Given the description of an element on the screen output the (x, y) to click on. 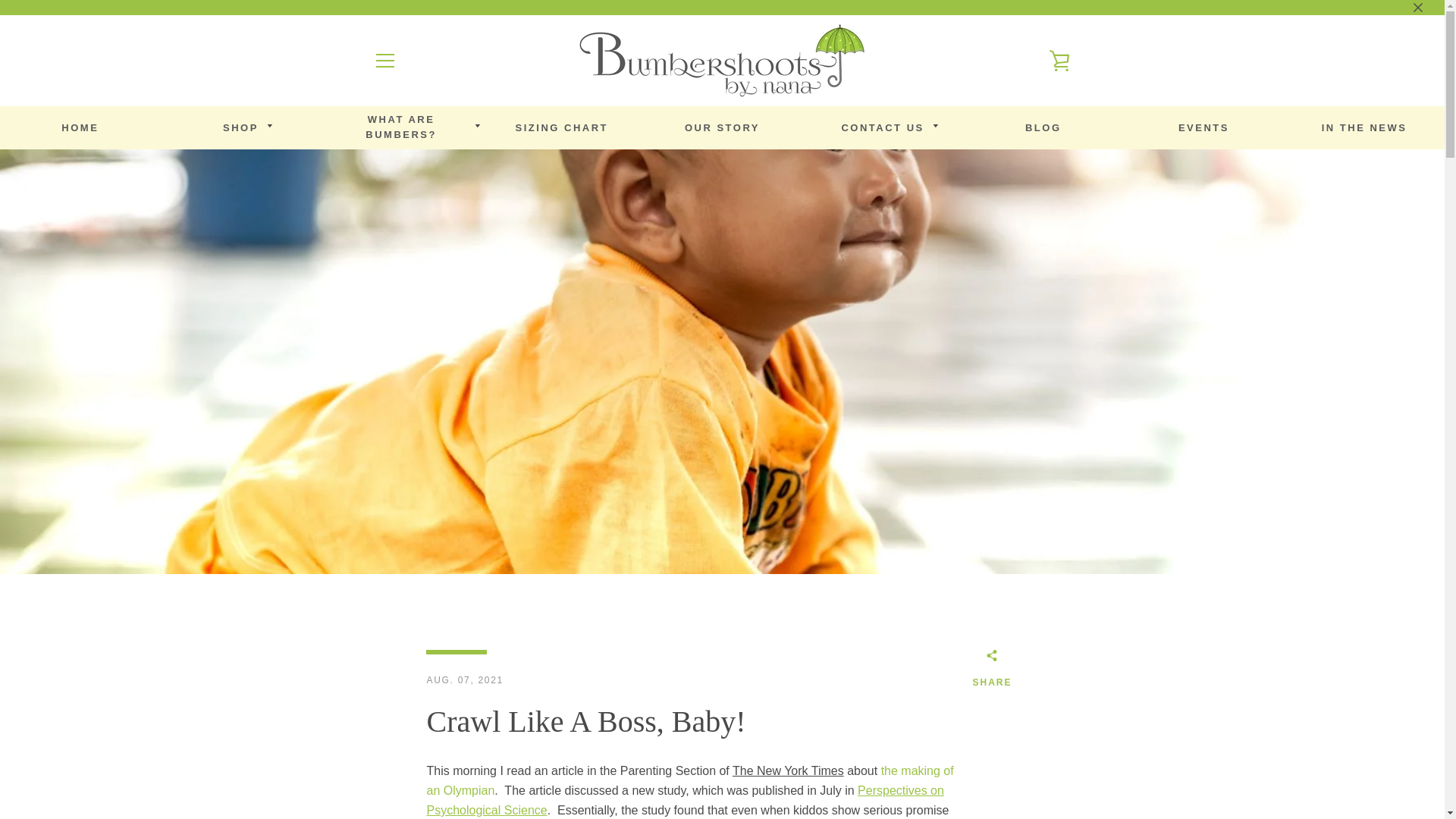
Bumbershoots by Nana on Instagram (424, 778)
SIZING CHART (240, 128)
SUBSCRIBE (561, 128)
IN THE NEWS (1014, 560)
VIEW CART (1364, 128)
EVENTS (401, 127)
Bumbershoots by Nana on Facebook (1059, 60)
